Given the description of an element on the screen output the (x, y) to click on. 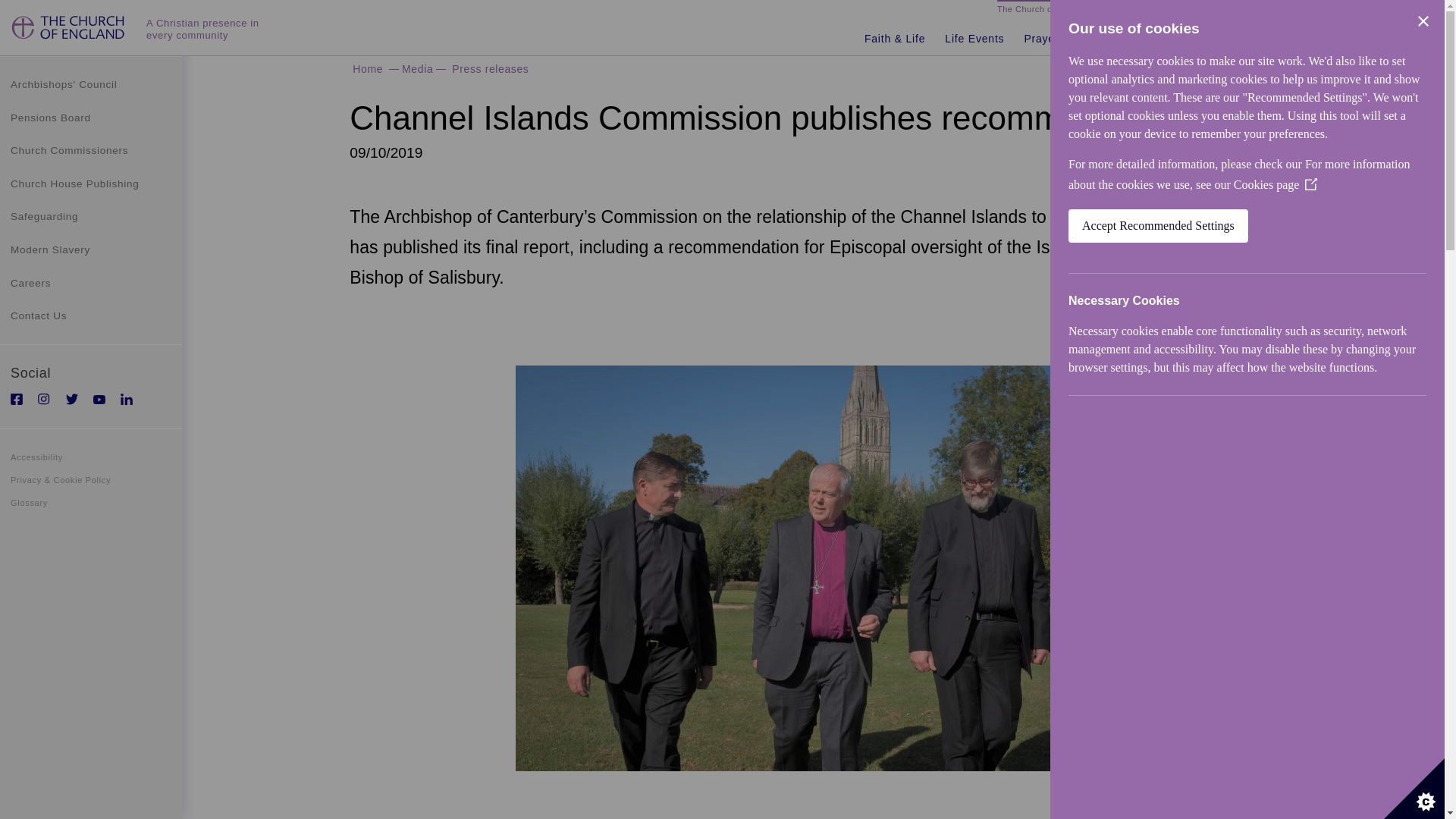
Home (69, 33)
A Church Near You (1144, 10)
The Archbishop of Canterbury (1259, 10)
The Church of England (1043, 10)
Accept Recommended Settings (1221, 225)
Safeguarding  (91, 216)
Accessibility (91, 456)
The Archbishop of York (1382, 10)
